Given the description of an element on the screen output the (x, y) to click on. 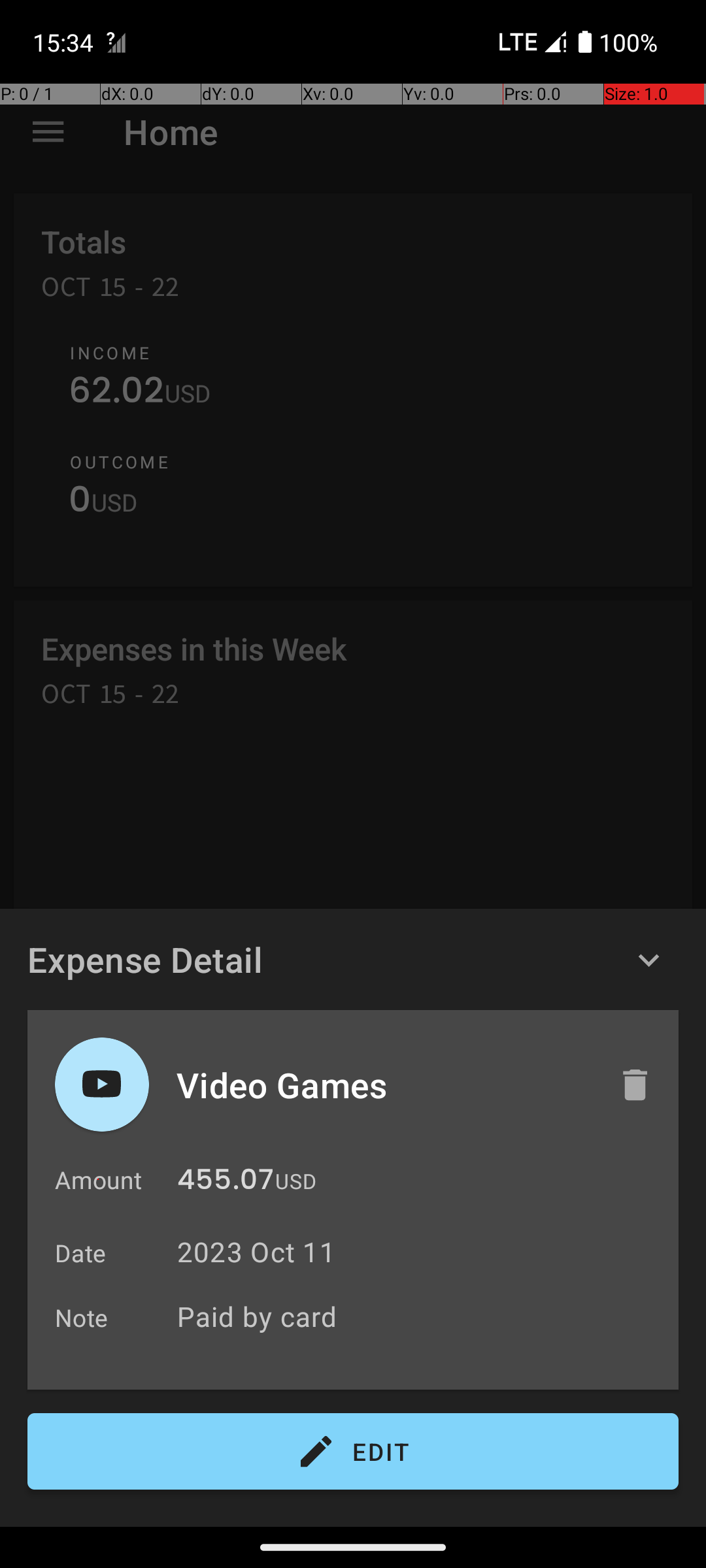
Video Games Element type: android.widget.TextView (383, 1084)
455.07 Element type: android.widget.TextView (225, 1182)
